Given the description of an element on the screen output the (x, y) to click on. 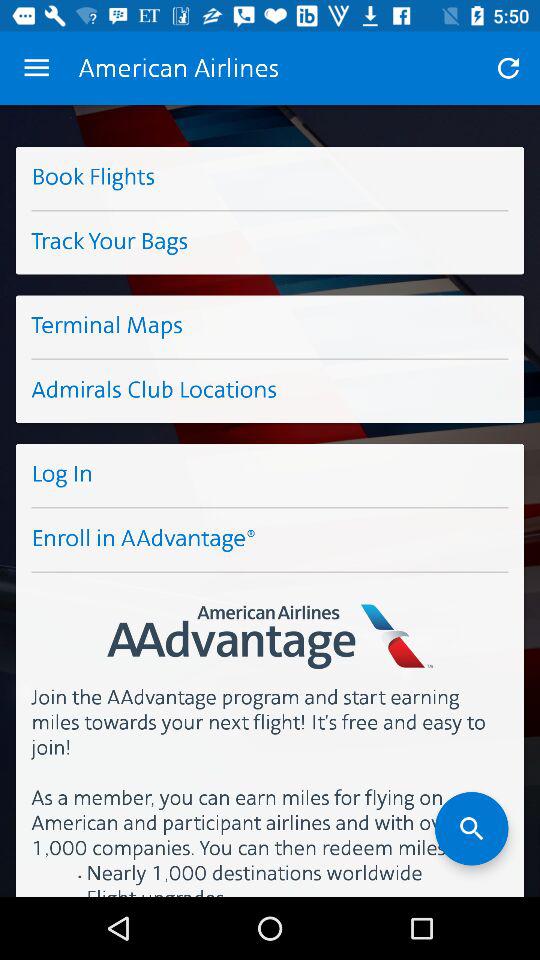
click app to the left of american airlines icon (36, 68)
